Given the description of an element on the screen output the (x, y) to click on. 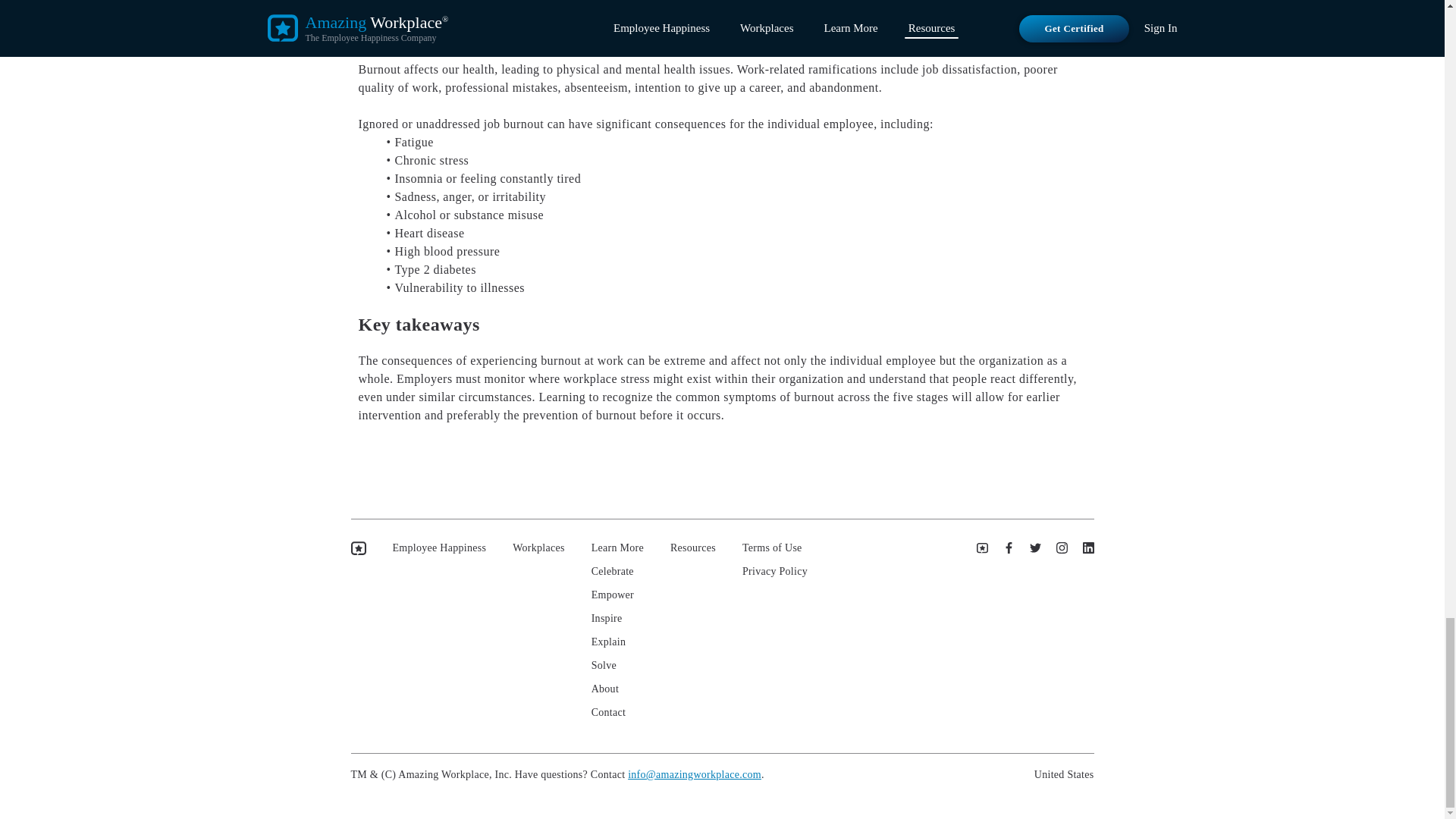
Workplaces (538, 548)
About (617, 689)
Solve (617, 665)
Inspire (617, 618)
Employee Happiness (439, 548)
Celebrate (617, 571)
Explain (617, 642)
Learn More (617, 548)
Resources (692, 548)
Contact (617, 712)
Empower (617, 594)
